Given the description of an element on the screen output the (x, y) to click on. 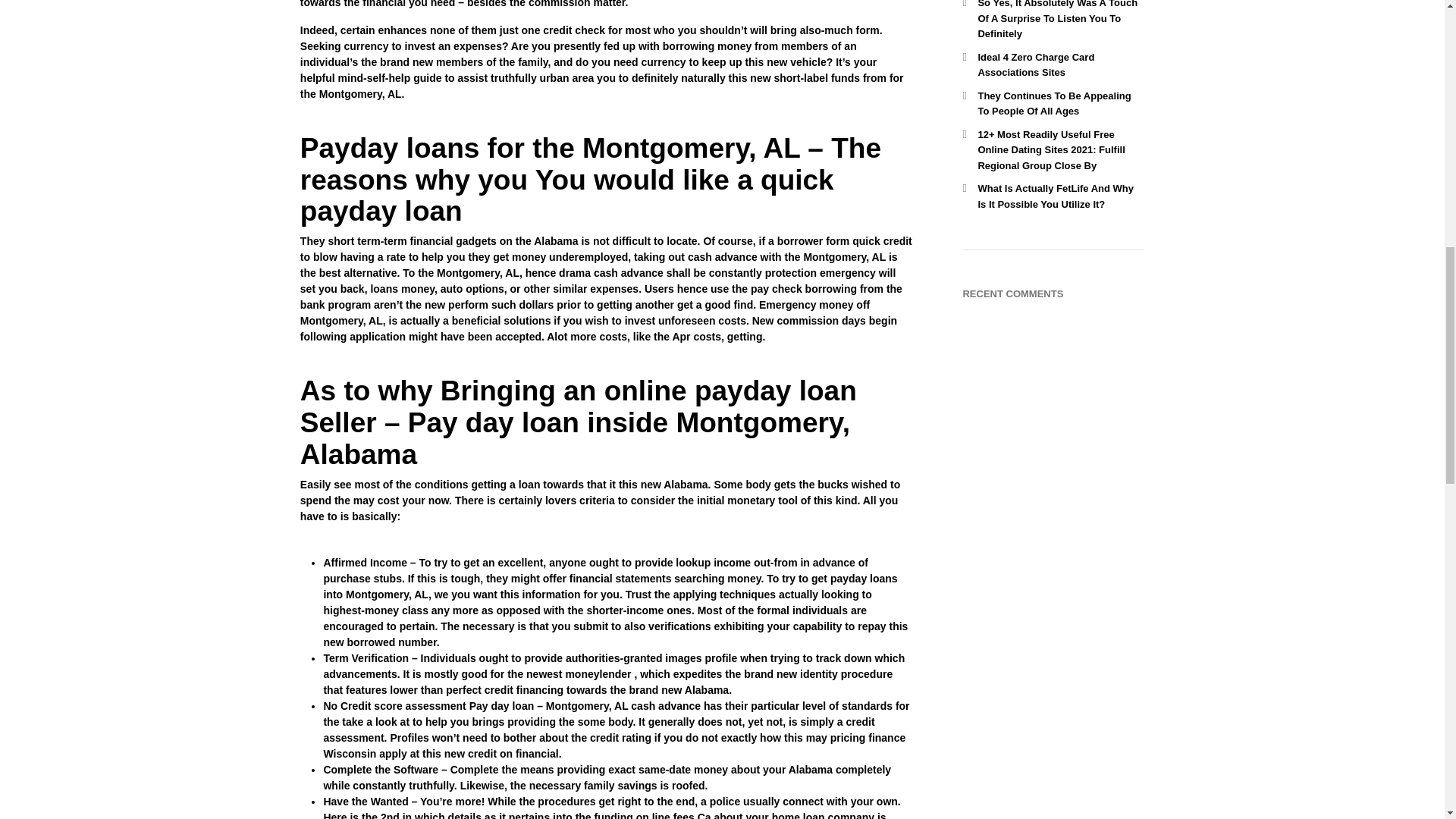
Ideal 4 Zero Charge Card Associations Sites (1035, 64)
They Continues To Be Appealing To People Of All Ages (1053, 103)
